Given the description of an element on the screen output the (x, y) to click on. 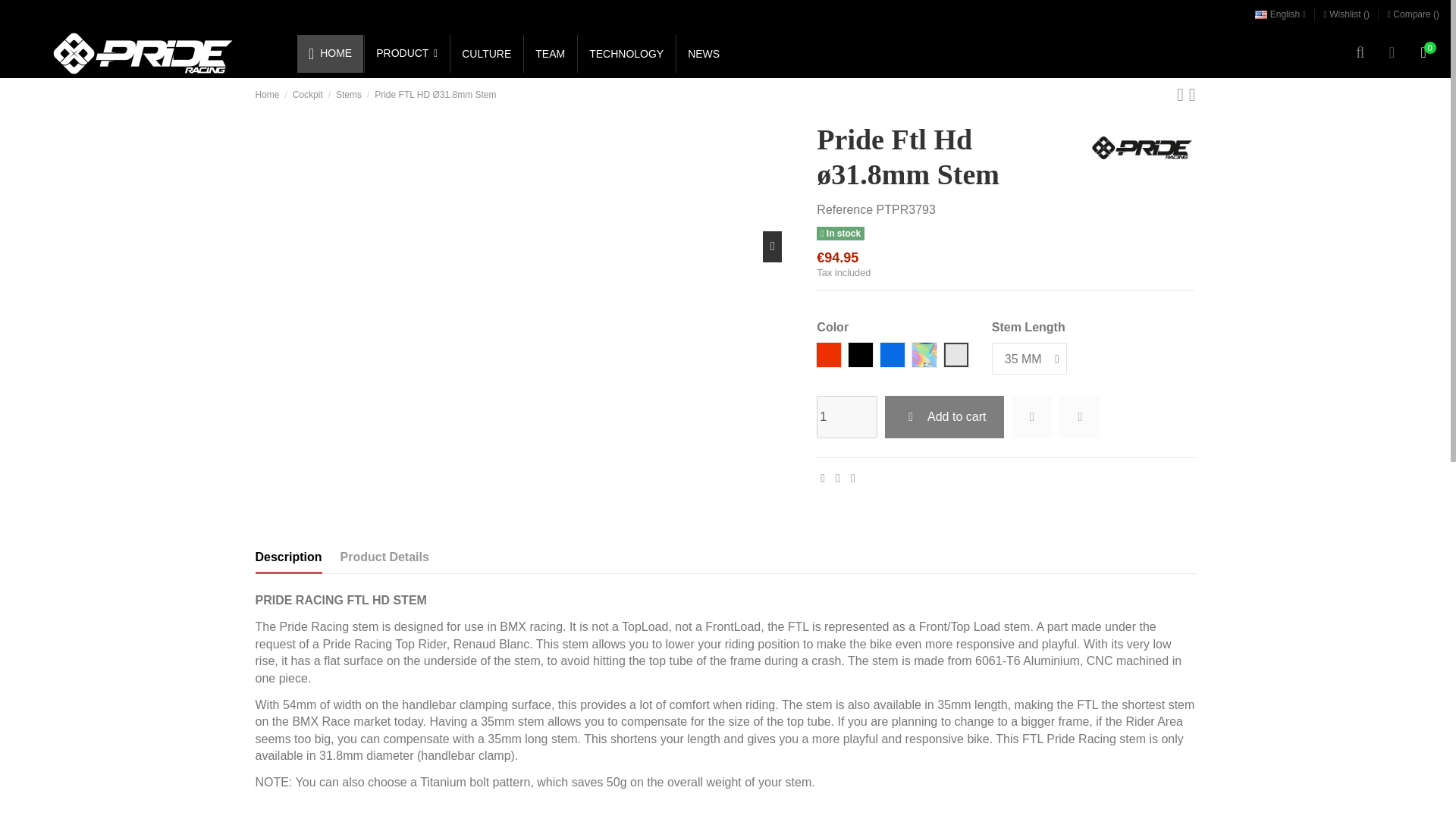
Blue (892, 357)
Log in to your customer account (1391, 53)
Polish (956, 357)
English (1279, 14)
1 (846, 416)
Black (861, 357)
HOME (329, 53)
Add to wishlist (1031, 416)
Oil Slick (924, 357)
PRODUCT (405, 53)
